Given the description of an element on the screen output the (x, y) to click on. 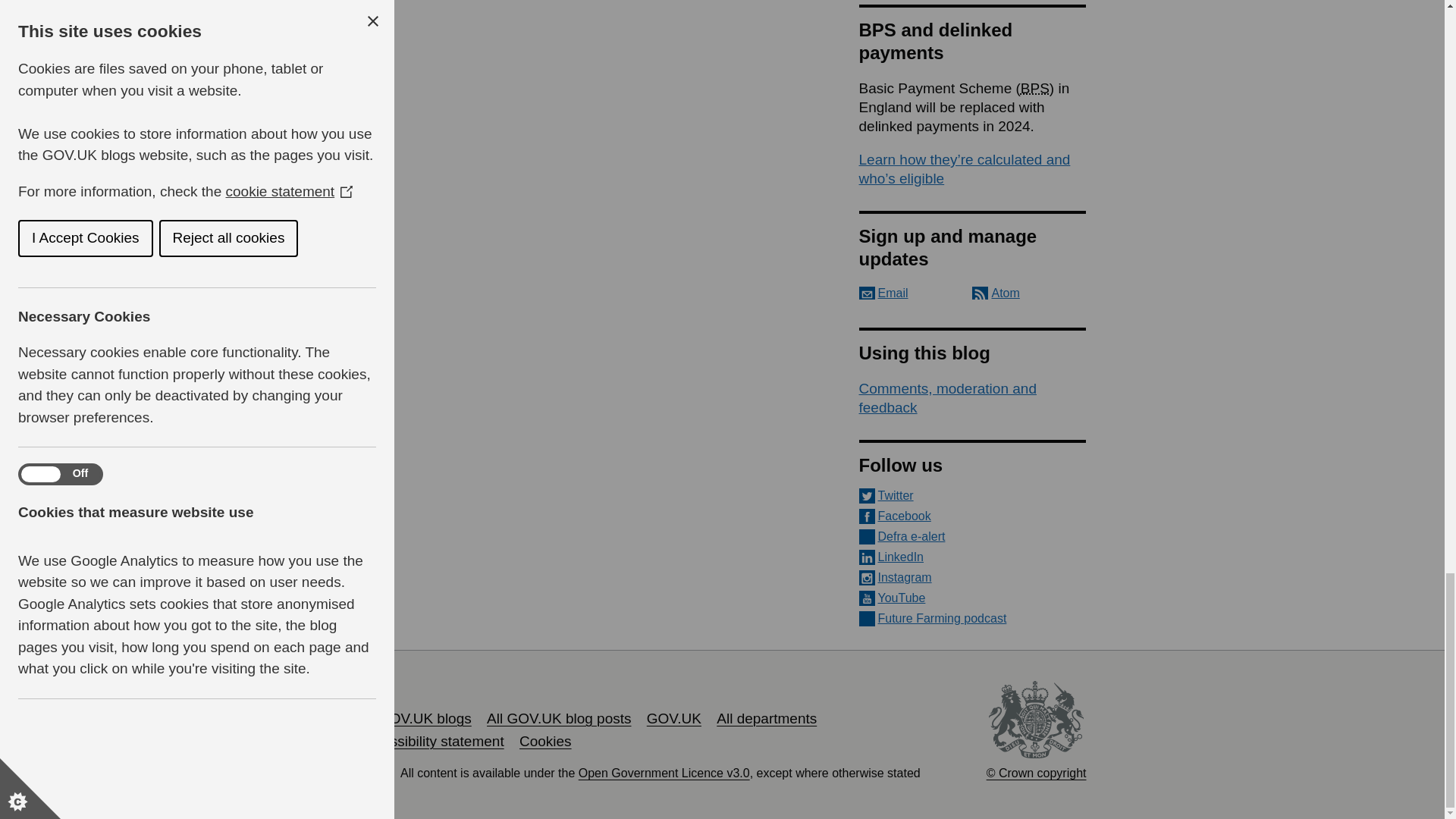
YouTube (972, 598)
Atom (995, 292)
Defra e-alert (972, 536)
LinkedIn (972, 557)
Facebook (972, 516)
Basic Payment Scheme (1034, 88)
Future Farming podcast (972, 618)
All GOV.UK blogs (414, 718)
Instagram (972, 577)
Twitter (972, 495)
Email (883, 292)
Comments, moderation and feedback (947, 397)
